Given the description of an element on the screen output the (x, y) to click on. 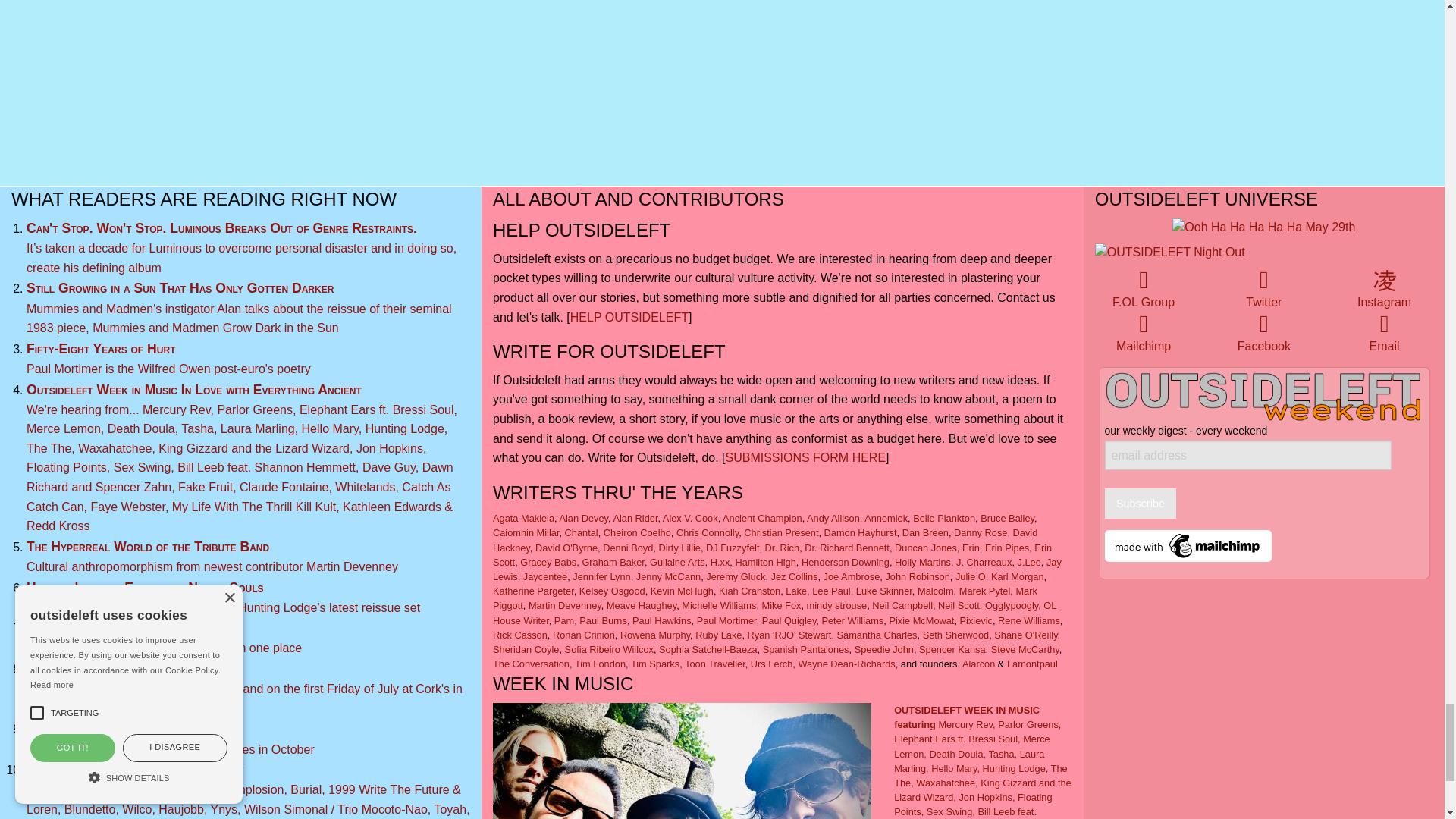
Mailchimp - email marketing made easy and fun (1188, 544)
Subscribe (1140, 503)
